Given the description of an element on the screen output the (x, y) to click on. 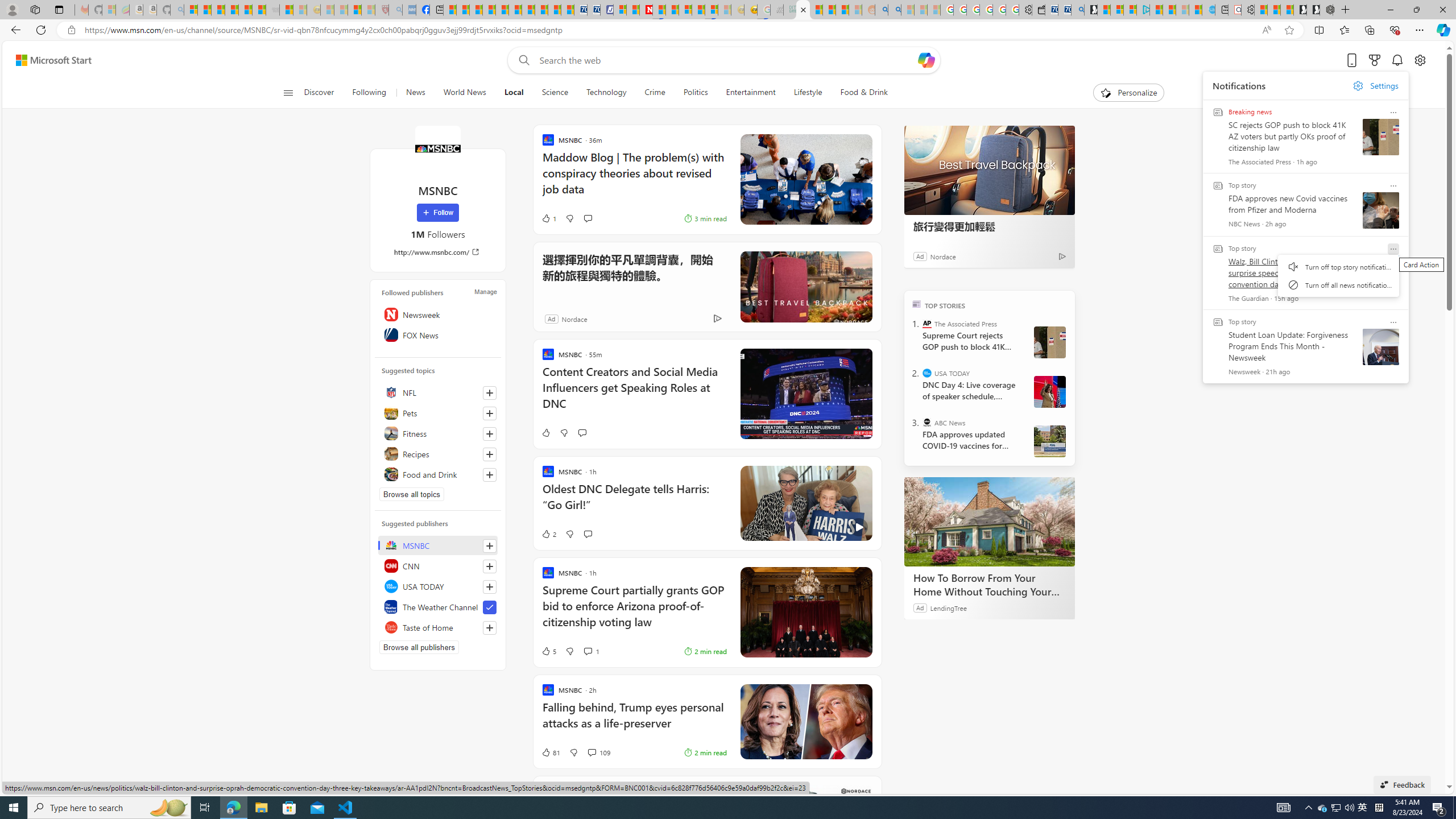
Fitness (437, 433)
Card Action (1393, 322)
